Given the description of an element on the screen output the (x, y) to click on. 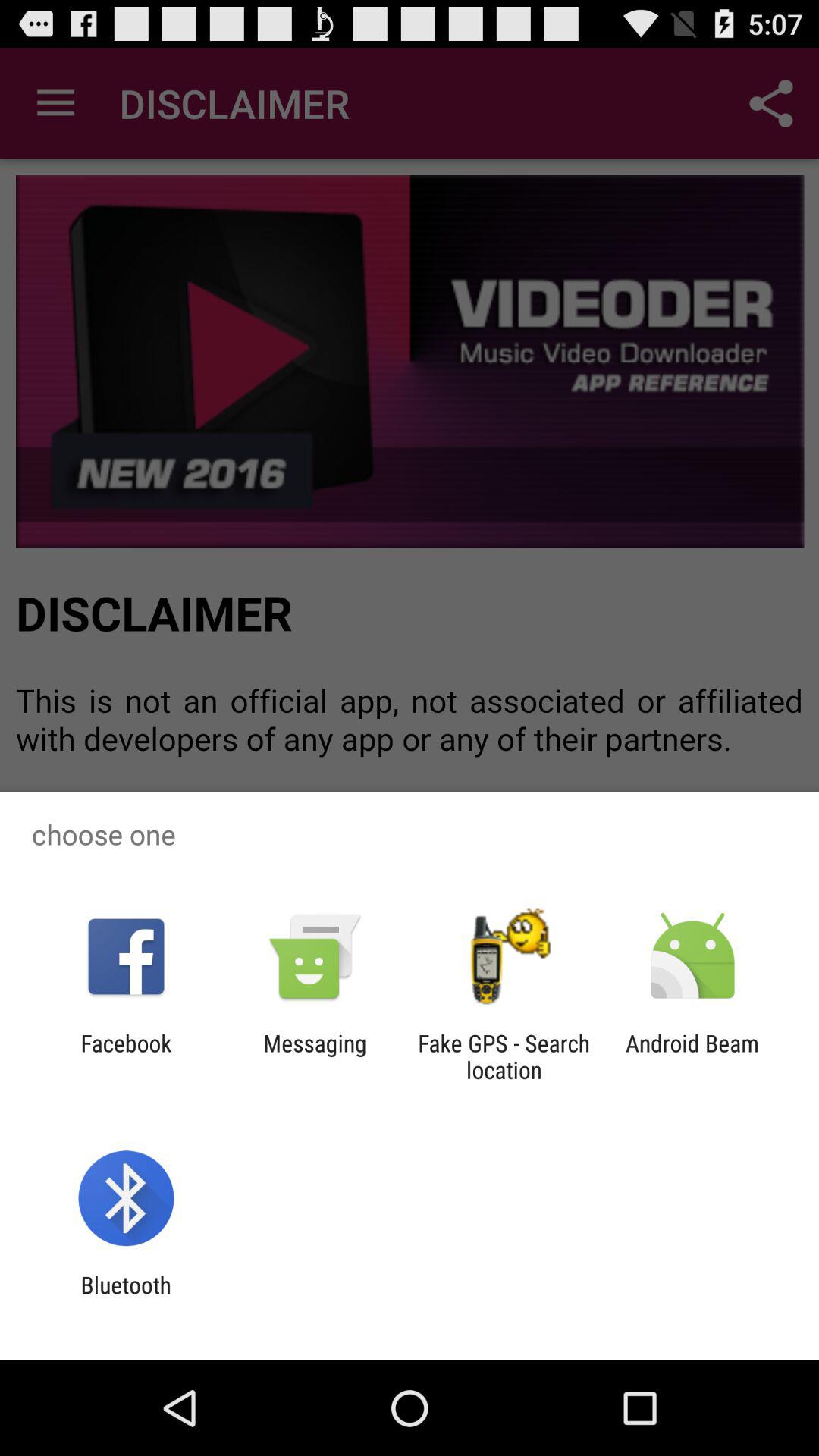
turn on the bluetooth app (125, 1298)
